Given the description of an element on the screen output the (x, y) to click on. 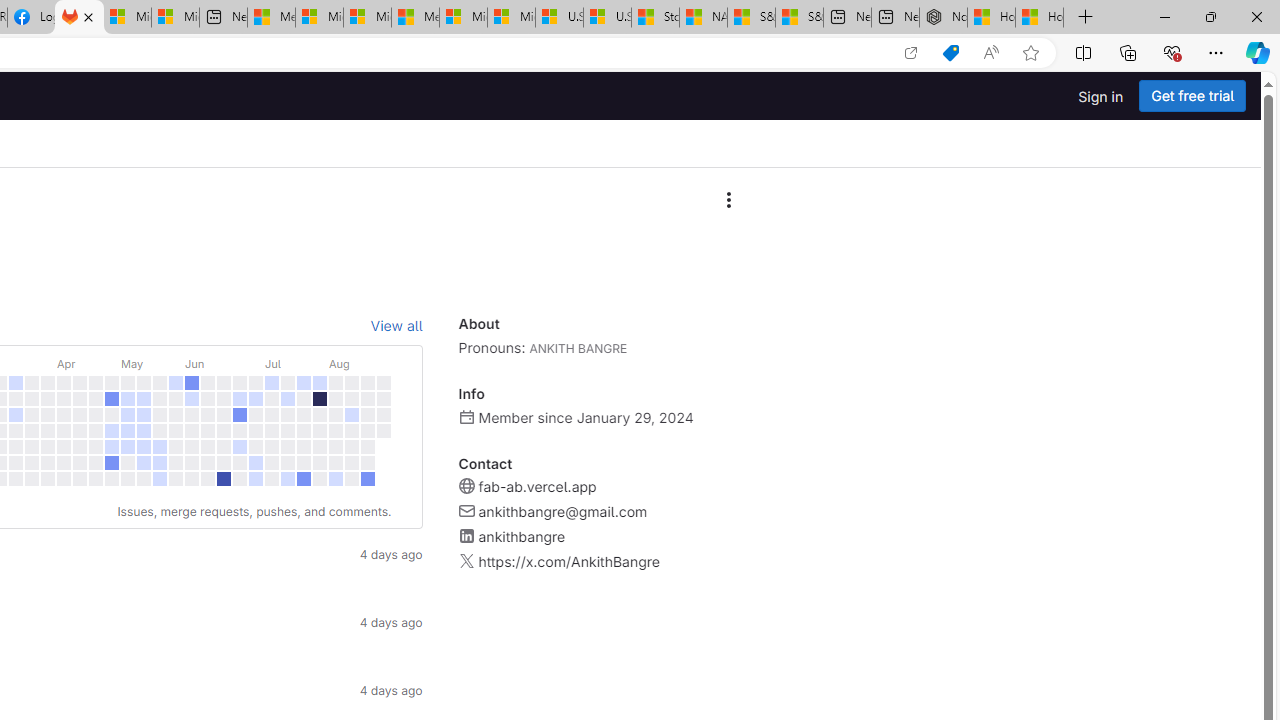
https://x.com/AnkithBangre (568, 561)
How to Use a Monitor With Your Closed Laptop (1039, 17)
Add this page to favorites (Ctrl+D) (1030, 53)
Close tab (88, 16)
Copilot (Ctrl+Shift+.) (1258, 52)
Class: s16 gl-fill-icon-subtle gl-mt-1 flex-shrink-0 (466, 561)
